Given the description of an element on the screen output the (x, y) to click on. 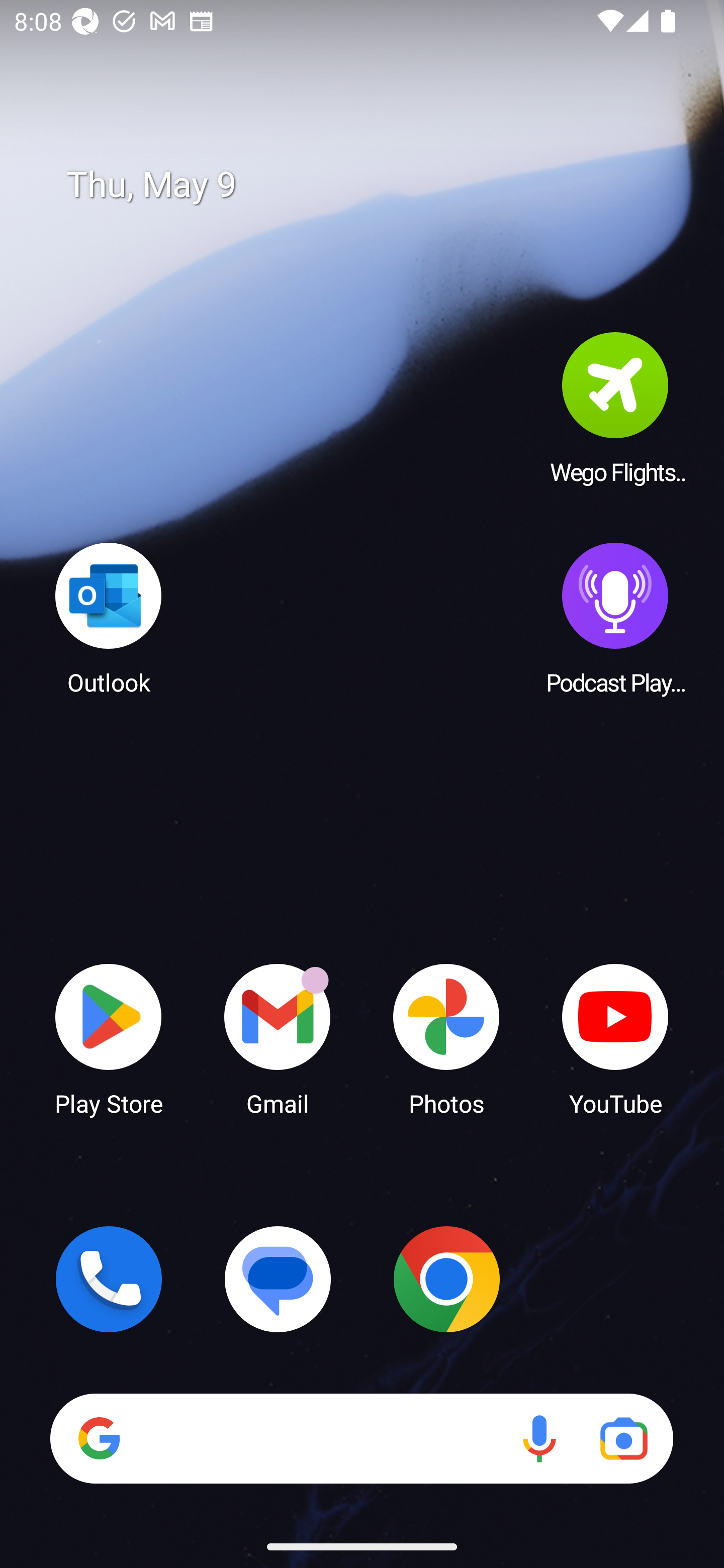
Thu, May 9 (375, 184)
Wego Flights & Hotels (615, 407)
Outlook (108, 617)
Podcast Player (615, 617)
Play Store (108, 1038)
Gmail Gmail has 18 notifications (277, 1038)
Photos (445, 1038)
YouTube (615, 1038)
Phone (108, 1279)
Messages (277, 1279)
Chrome (446, 1279)
Search Voice search Google Lens (361, 1438)
Voice search (539, 1438)
Google Lens (623, 1438)
